Given the description of an element on the screen output the (x, y) to click on. 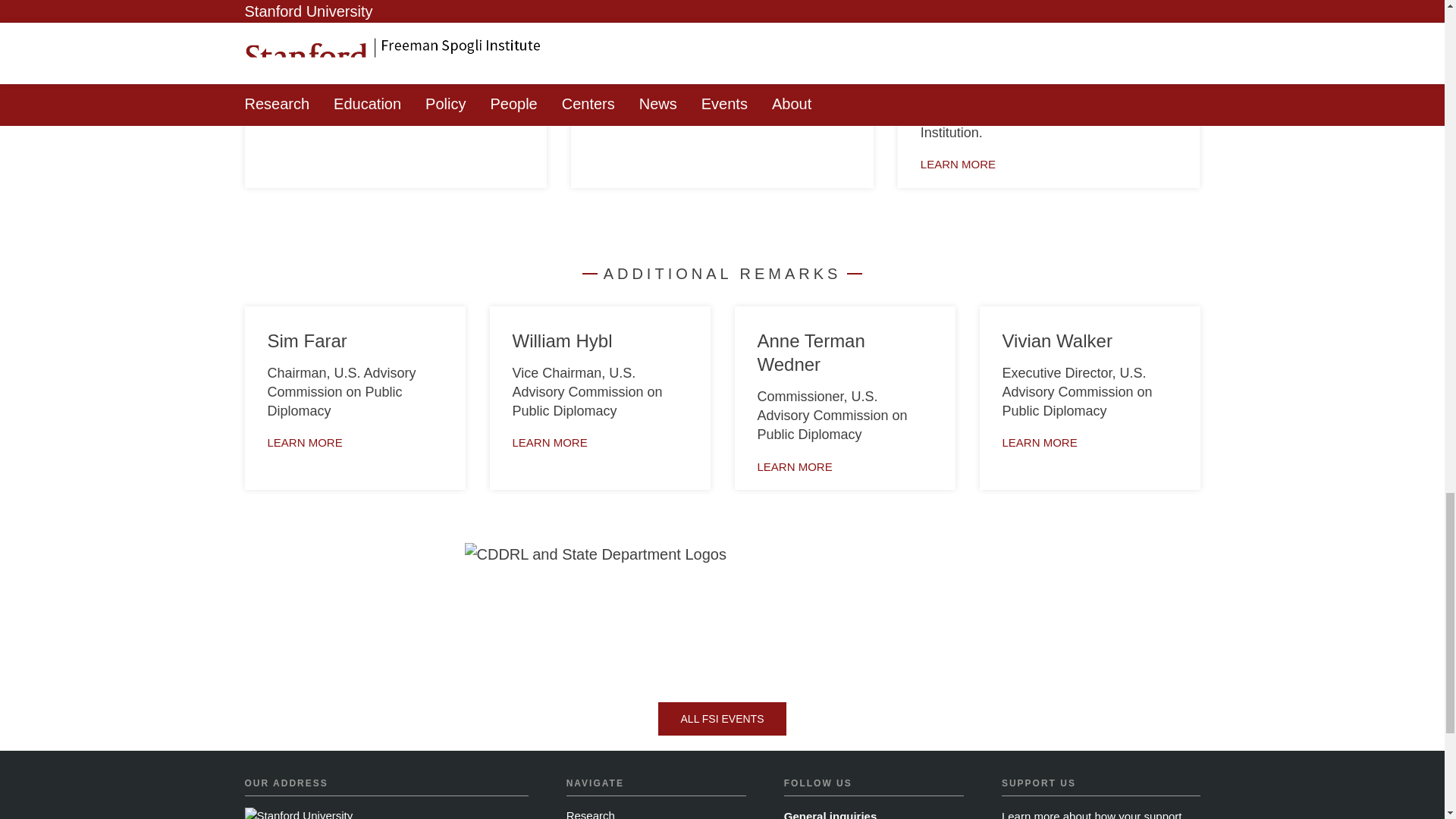
LEARN MORE (550, 441)
LEARN MORE (794, 466)
LEARN MORE (304, 49)
LEARN MORE (631, 11)
LEARN MORE (1040, 441)
LEARN MORE (957, 164)
ALL FSI EVENTS (722, 718)
Research (590, 814)
LEARN MORE (304, 441)
